Given the description of an element on the screen output the (x, y) to click on. 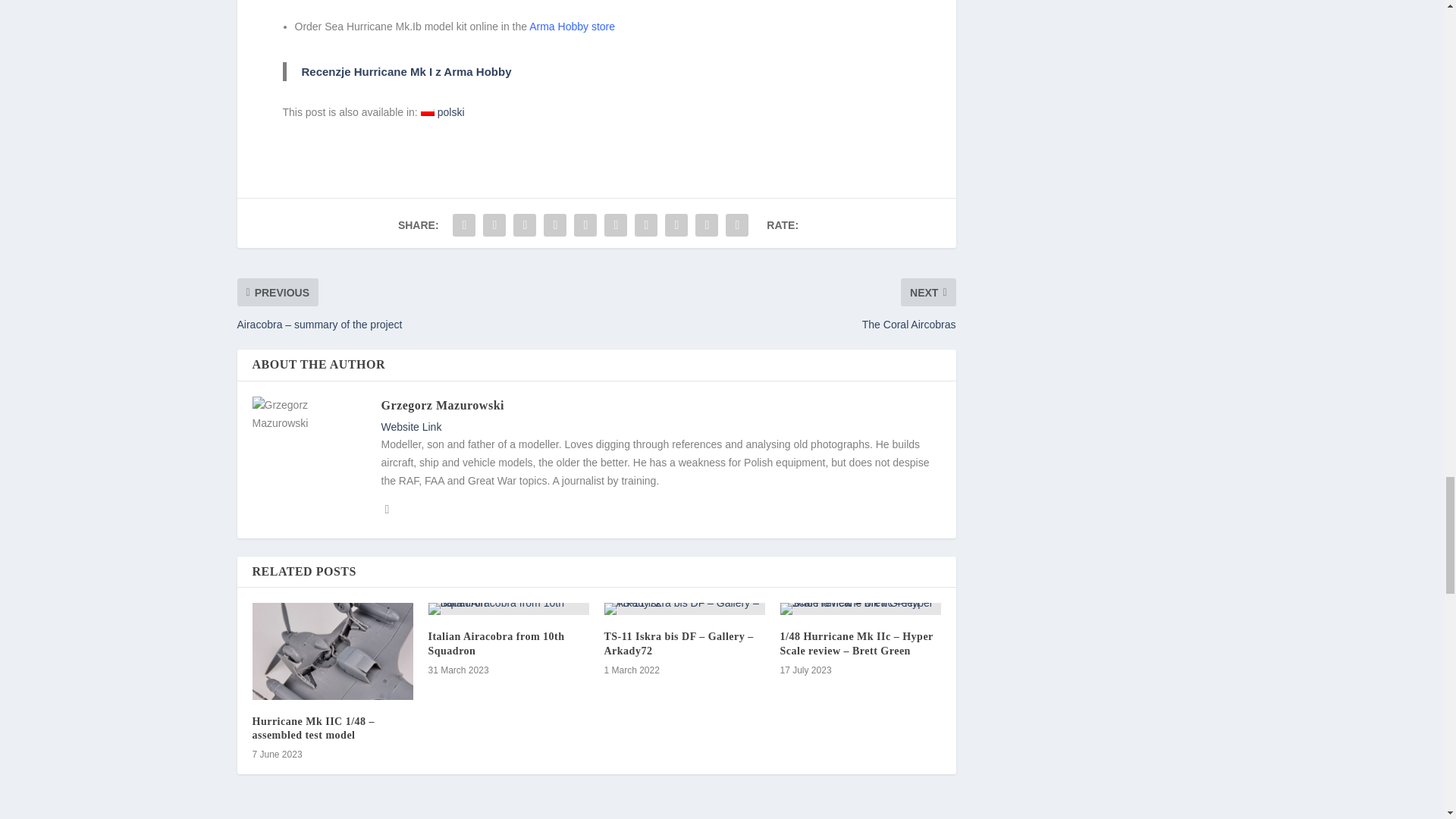
polski (442, 112)
Recenzje Hurricane Mk I z Arma Hobby (406, 71)
Arma Hobby store (571, 26)
